Given the description of an element on the screen output the (x, y) to click on. 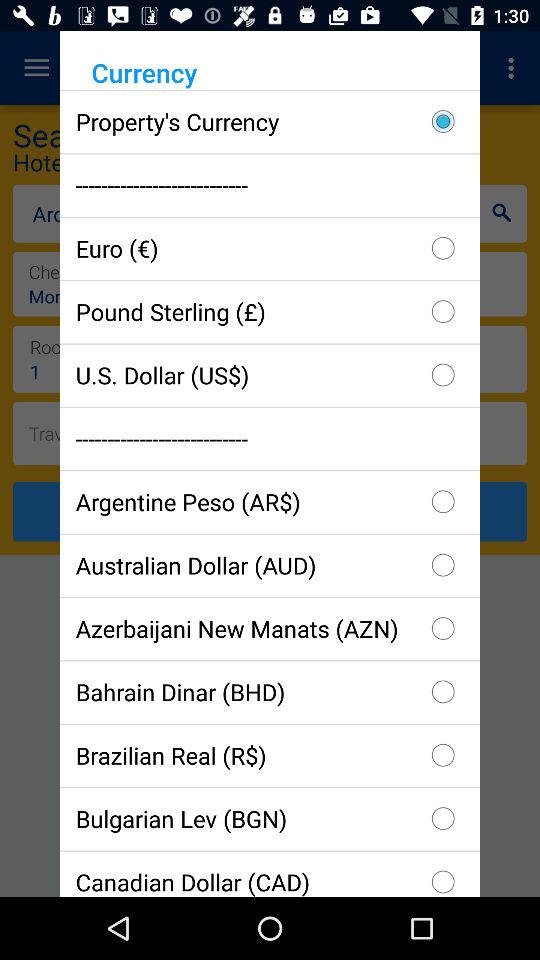
tap item above bahrain dinar (bhd) (270, 628)
